Given the description of an element on the screen output the (x, y) to click on. 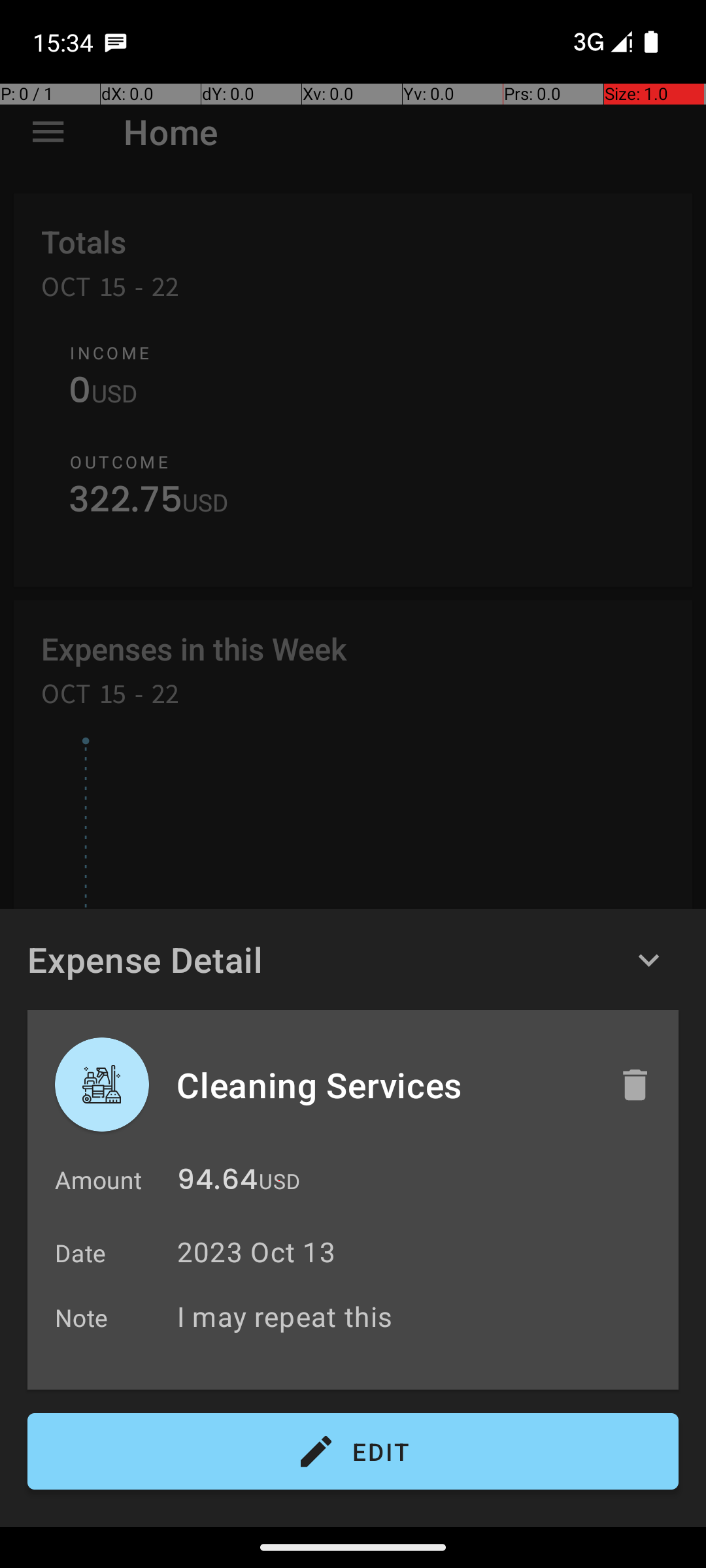
Cleaning Services Element type: android.widget.TextView (383, 1084)
94.64 Element type: android.widget.TextView (217, 1182)
I may repeat this Element type: android.widget.TextView (420, 1315)
